Given the description of an element on the screen output the (x, y) to click on. 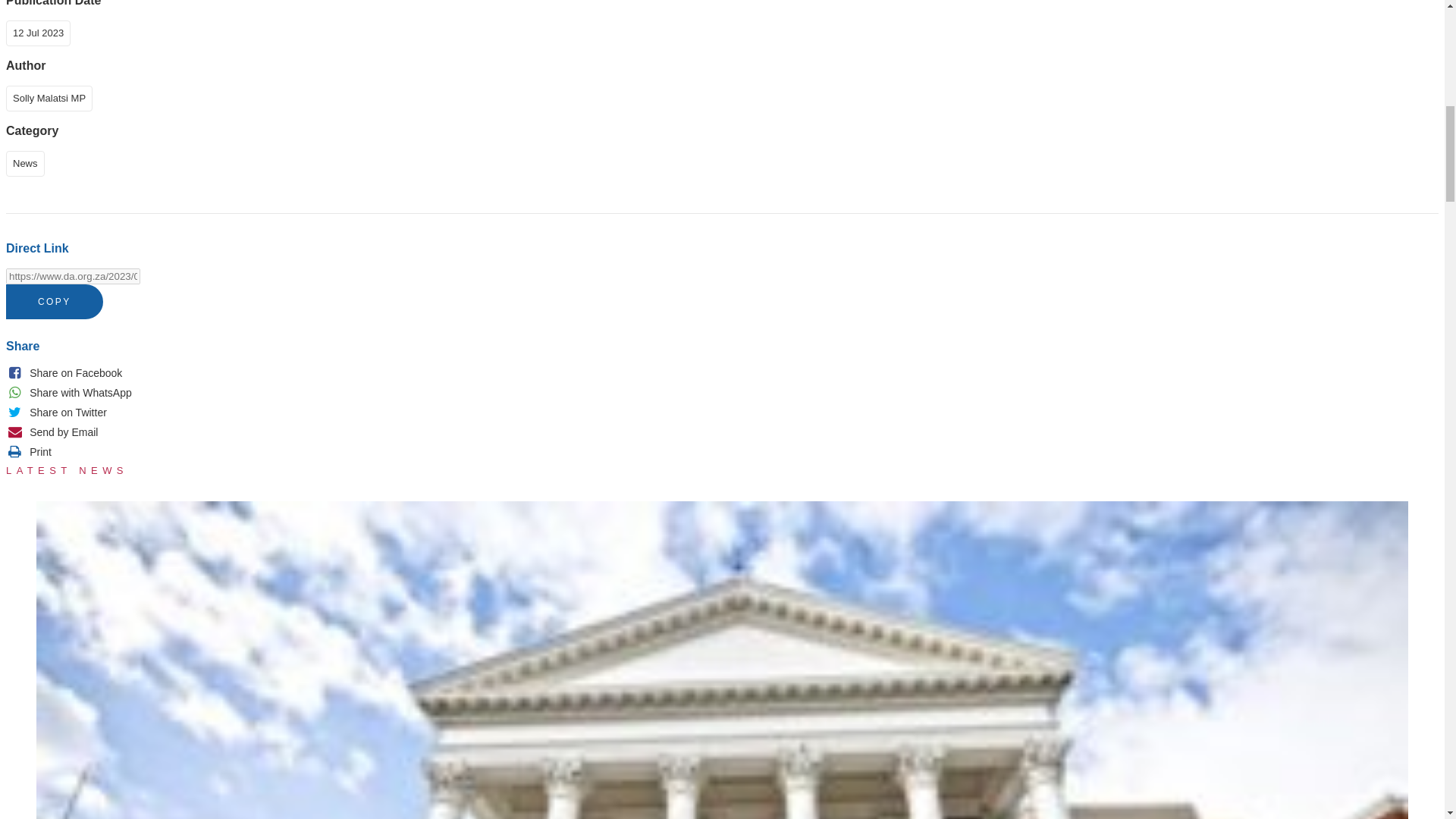
News (27, 162)
Share on Twitter (55, 412)
Share on Facebook (63, 373)
Share with WhatsApp (68, 392)
Send by Email (51, 431)
COPY (54, 301)
